Given the description of an element on the screen output the (x, y) to click on. 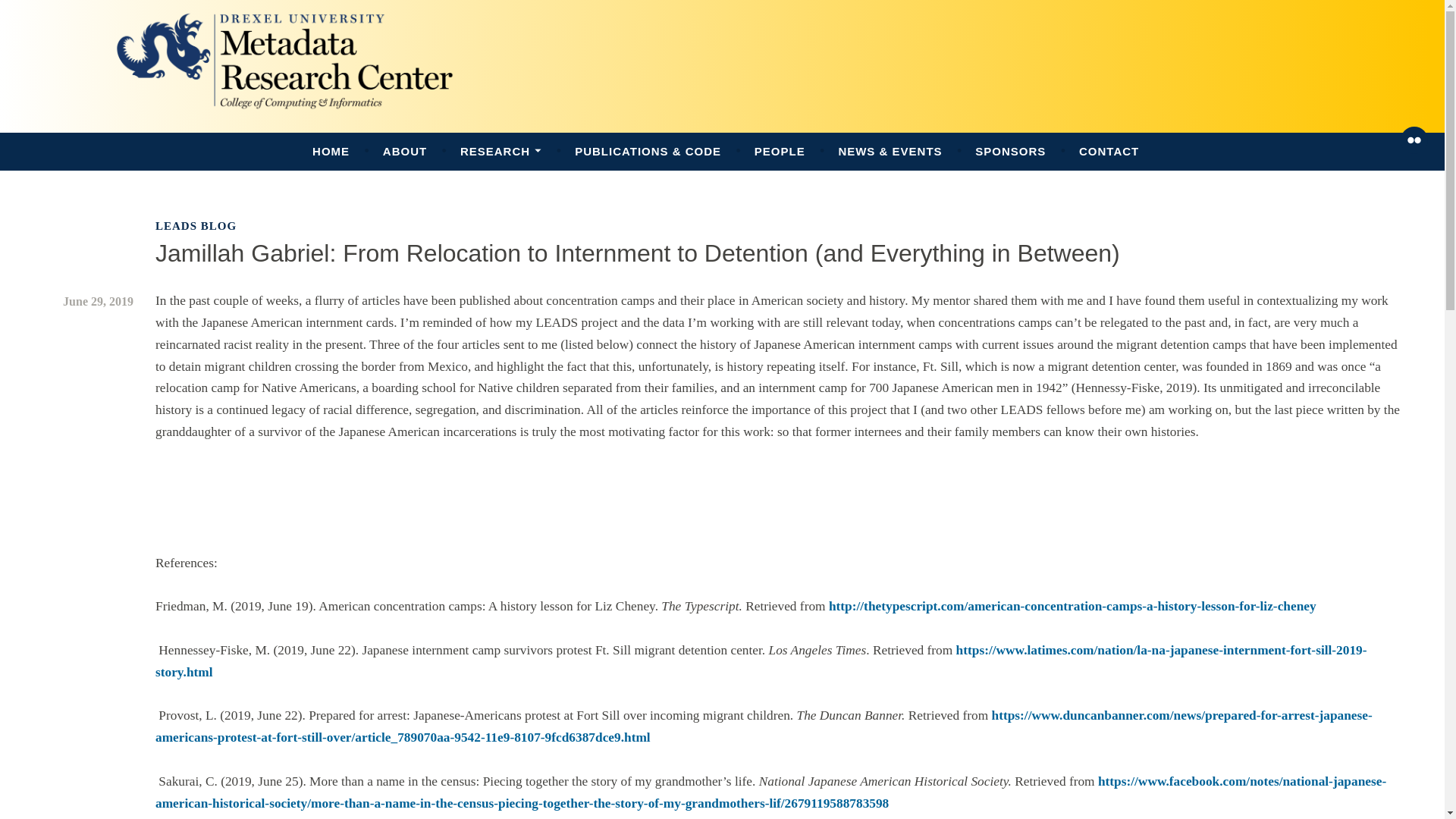
SPONSORS (1010, 151)
June 29, 2019 (97, 300)
LEADS BLOG (195, 226)
Metadata Research Center (205, 148)
photos (1414, 140)
ABOUT (404, 151)
CONTACT (1108, 151)
PEOPLE (779, 151)
RESEARCH (500, 151)
HOME (331, 151)
